Given the description of an element on the screen output the (x, y) to click on. 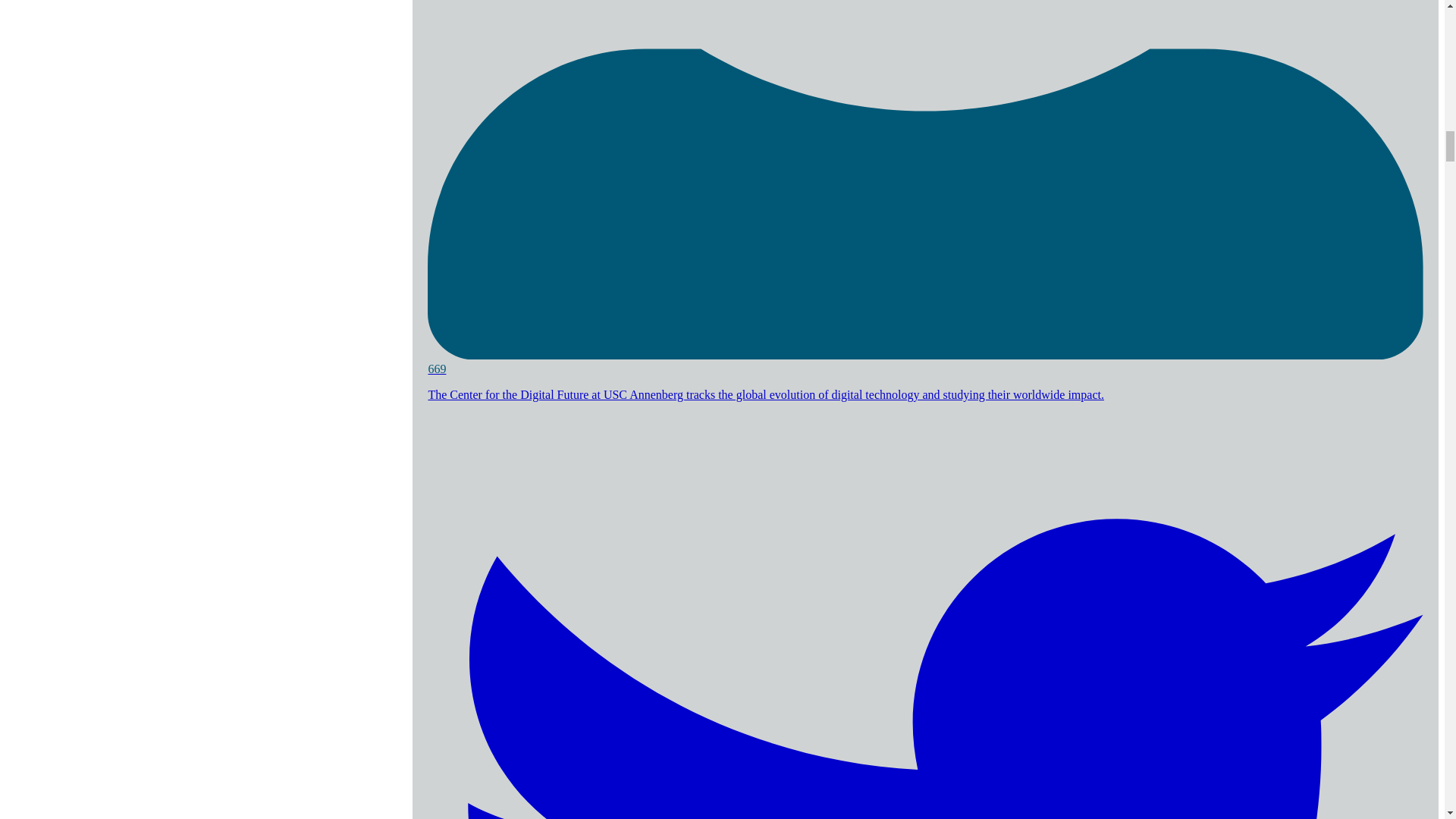
669 Followers (925, 361)
